Given the description of an element on the screen output the (x, y) to click on. 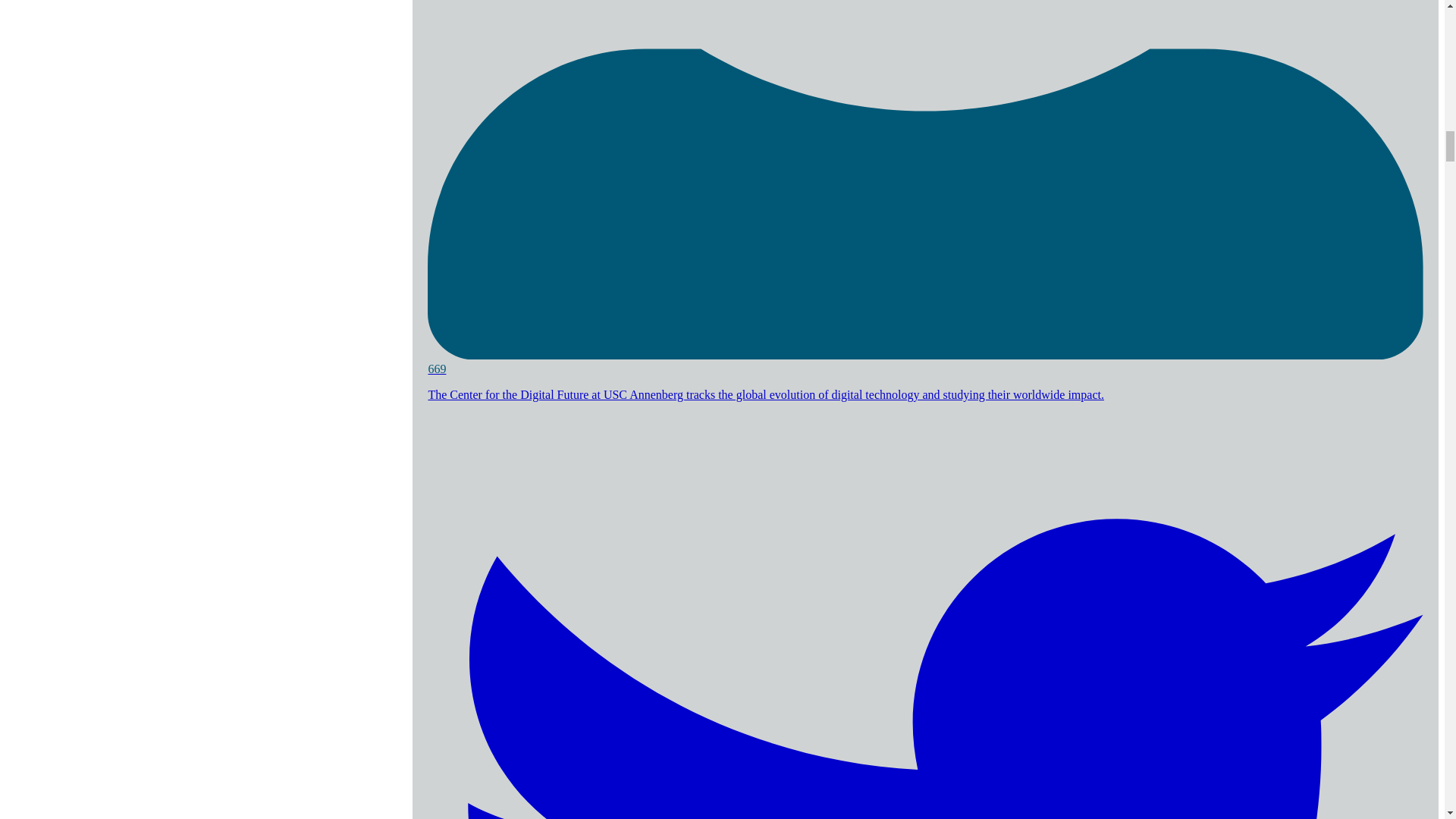
669 Followers (925, 361)
